Given the description of an element on the screen output the (x, y) to click on. 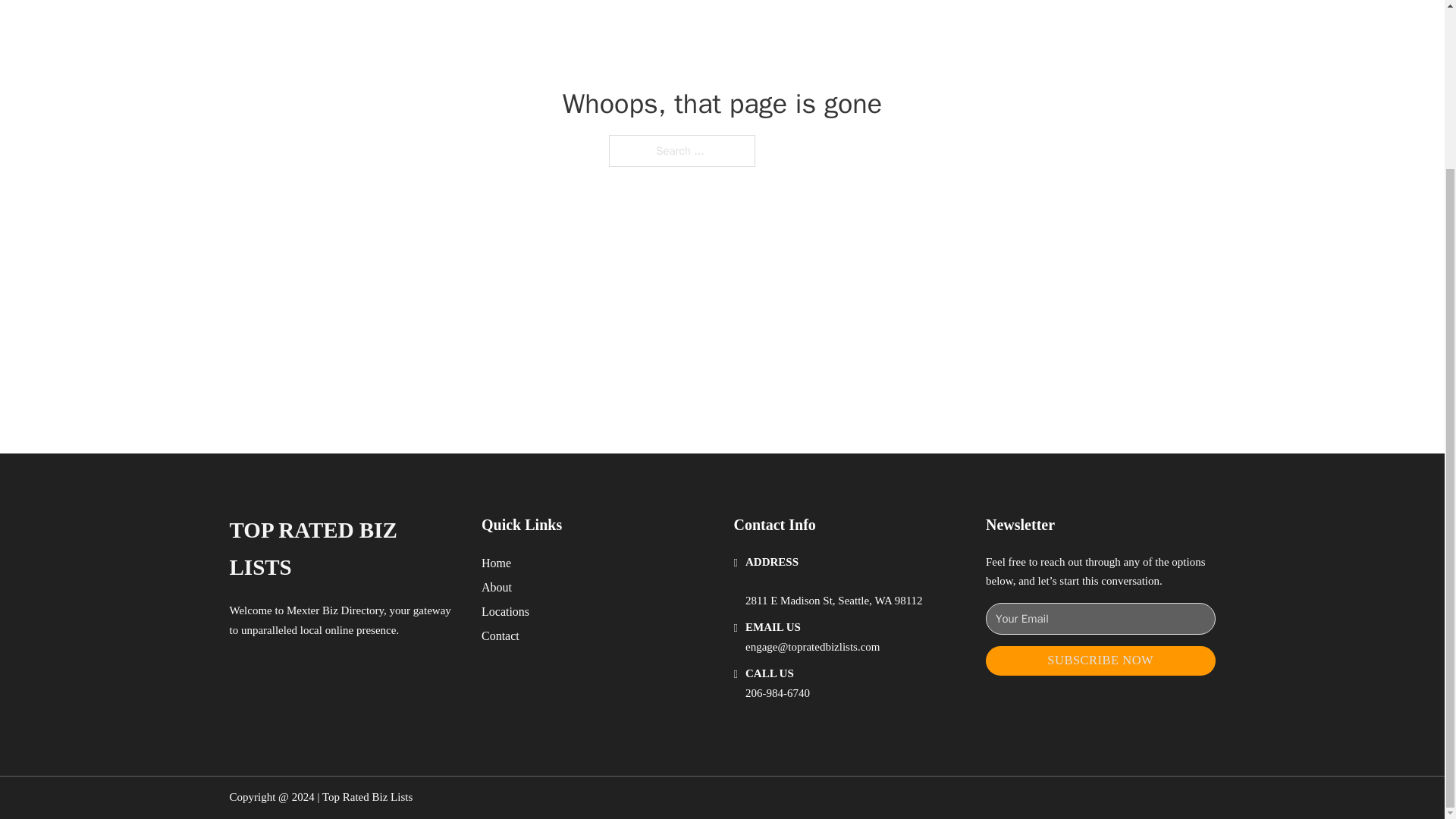
Locations (505, 611)
Contact (500, 635)
206-984-6740 (777, 693)
About (496, 587)
SUBSCRIBE NOW (1100, 660)
Home (496, 562)
TOP RATED BIZ LISTS (343, 549)
